Given the description of an element on the screen output the (x, y) to click on. 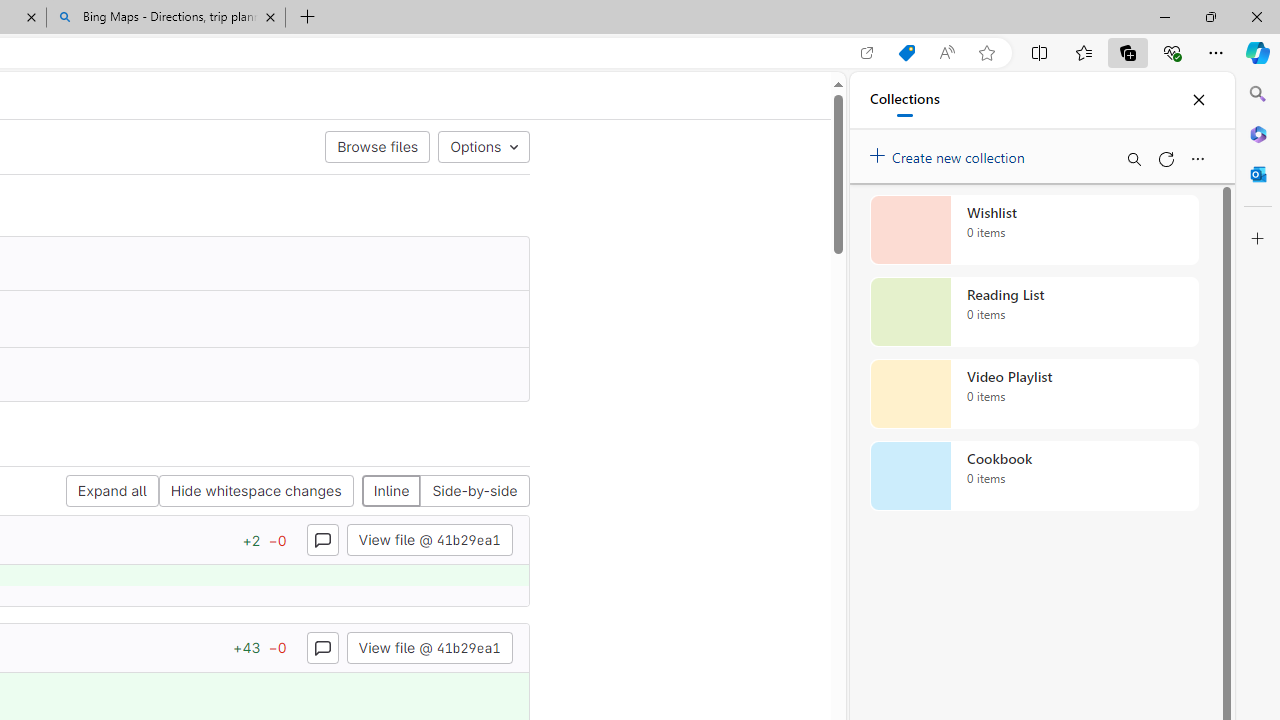
Side-by-side (474, 491)
Expand all (111, 491)
